Given the description of an element on the screen output the (x, y) to click on. 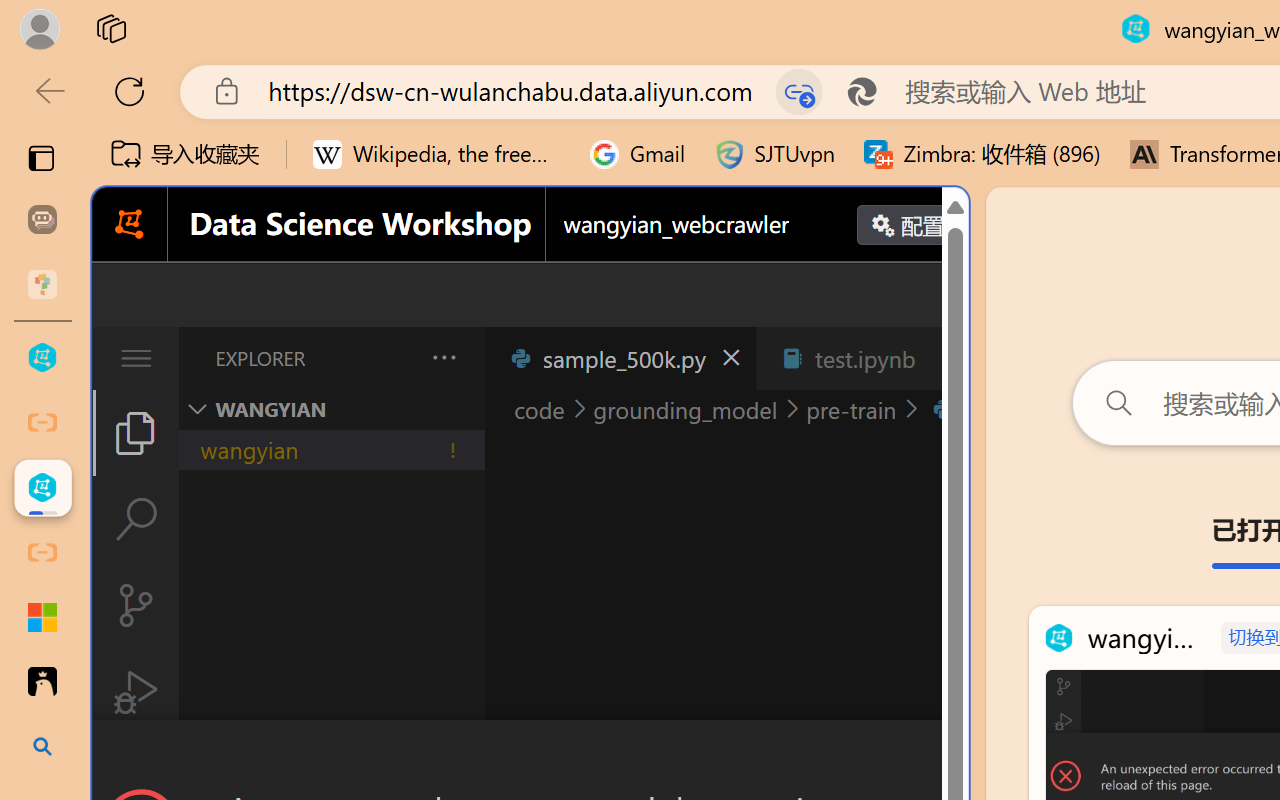
Class: menubar compact overflow-menu-only (135, 358)
wangyian_dsw - DSW (42, 357)
test.ipynb (864, 358)
Close (Ctrl+F4) (946, 358)
Adjust indents and spacing - Microsoft Support (42, 617)
Search (Ctrl+Shift+F) (135, 519)
Close Dialog (959, 756)
Tab actions (945, 358)
